Given the description of an element on the screen output the (x, y) to click on. 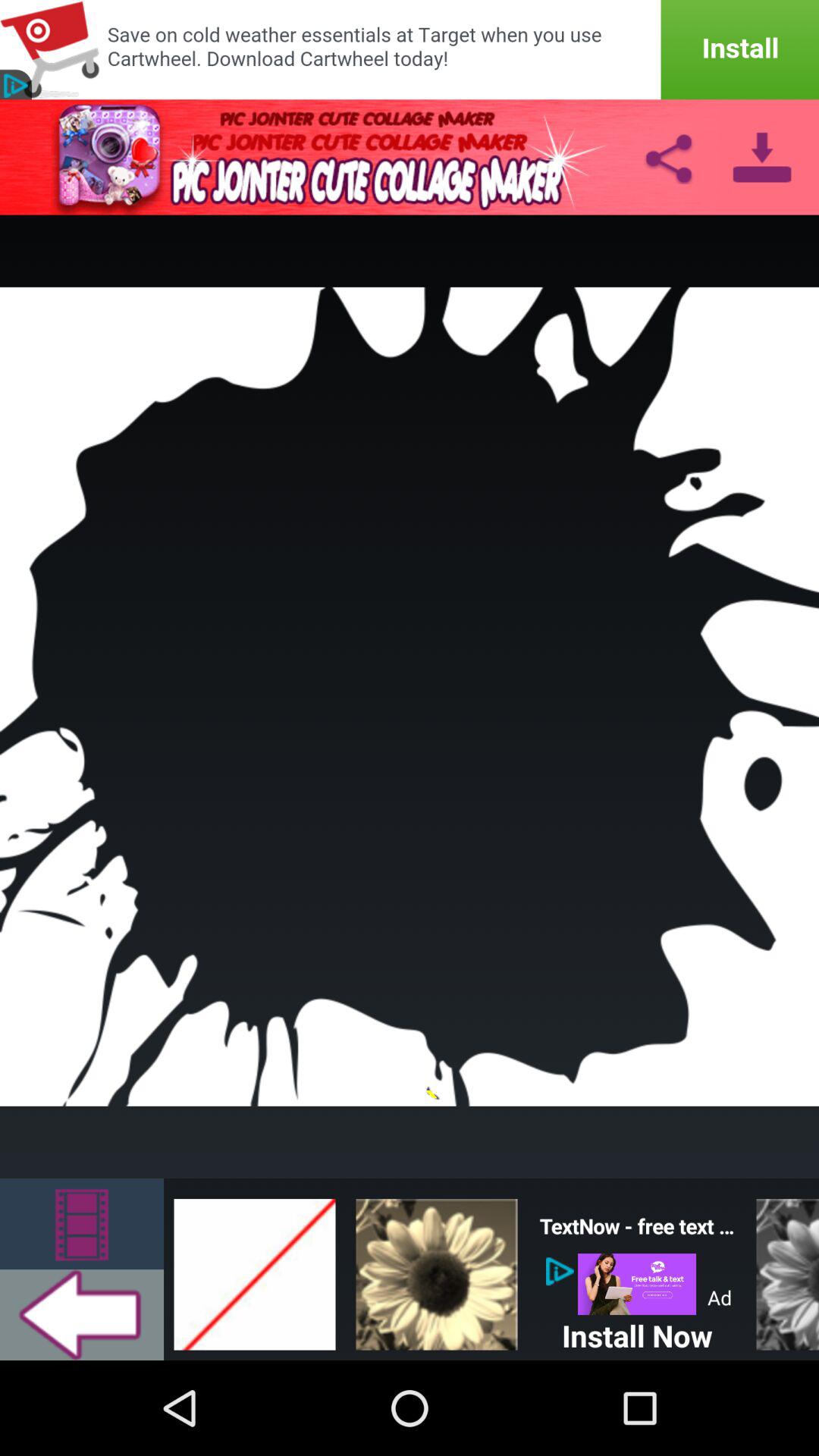
advertisement (636, 1283)
